Given the description of an element on the screen output the (x, y) to click on. 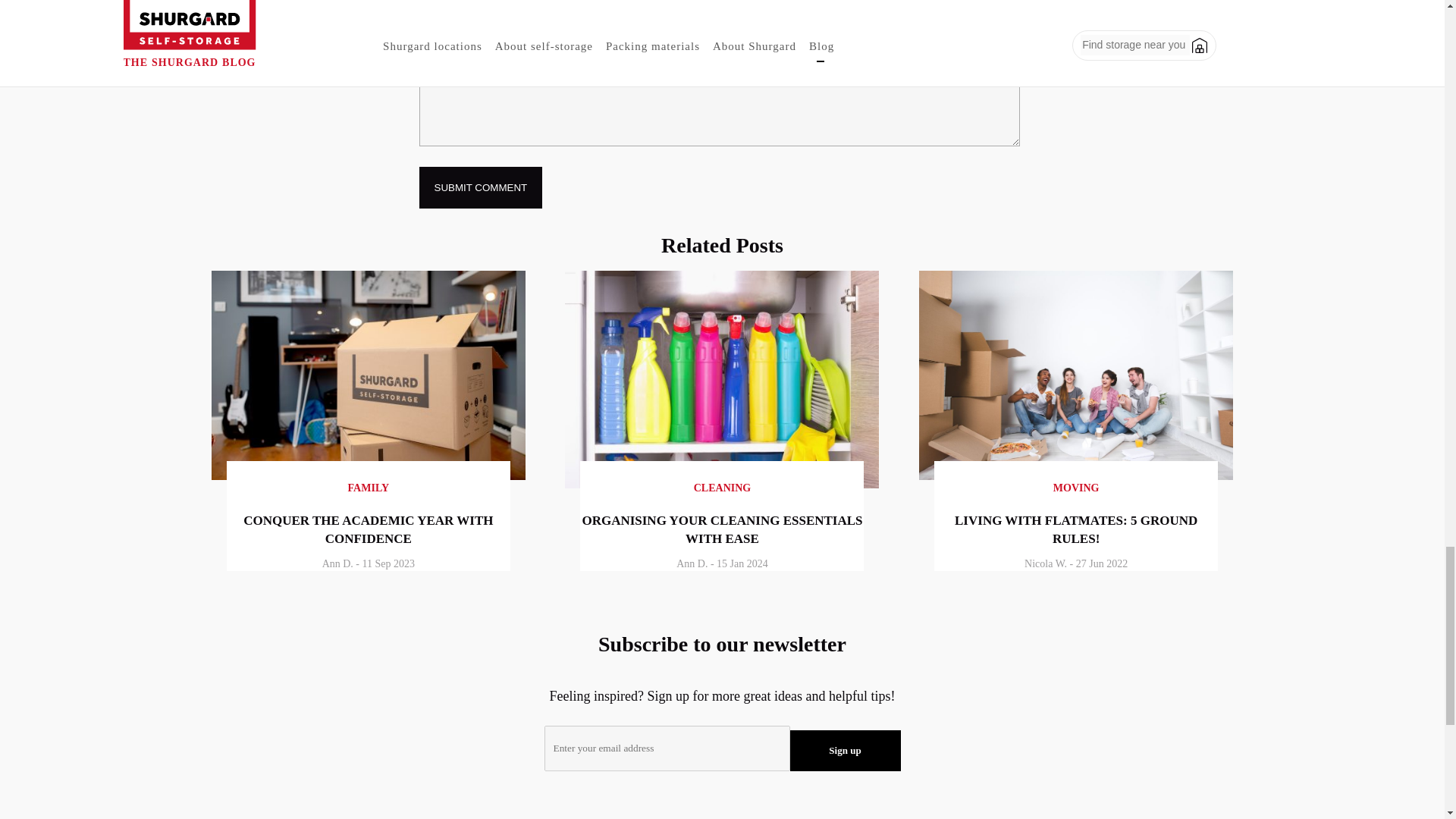
Submit Comment (480, 187)
Sign up (845, 750)
Organising Your Cleaning Essentials with Ease (721, 483)
Living with Flatmates: 5 Ground Rules! (1075, 474)
Conquer the Academic Year with Confidence (368, 474)
